Given the description of an element on the screen output the (x, y) to click on. 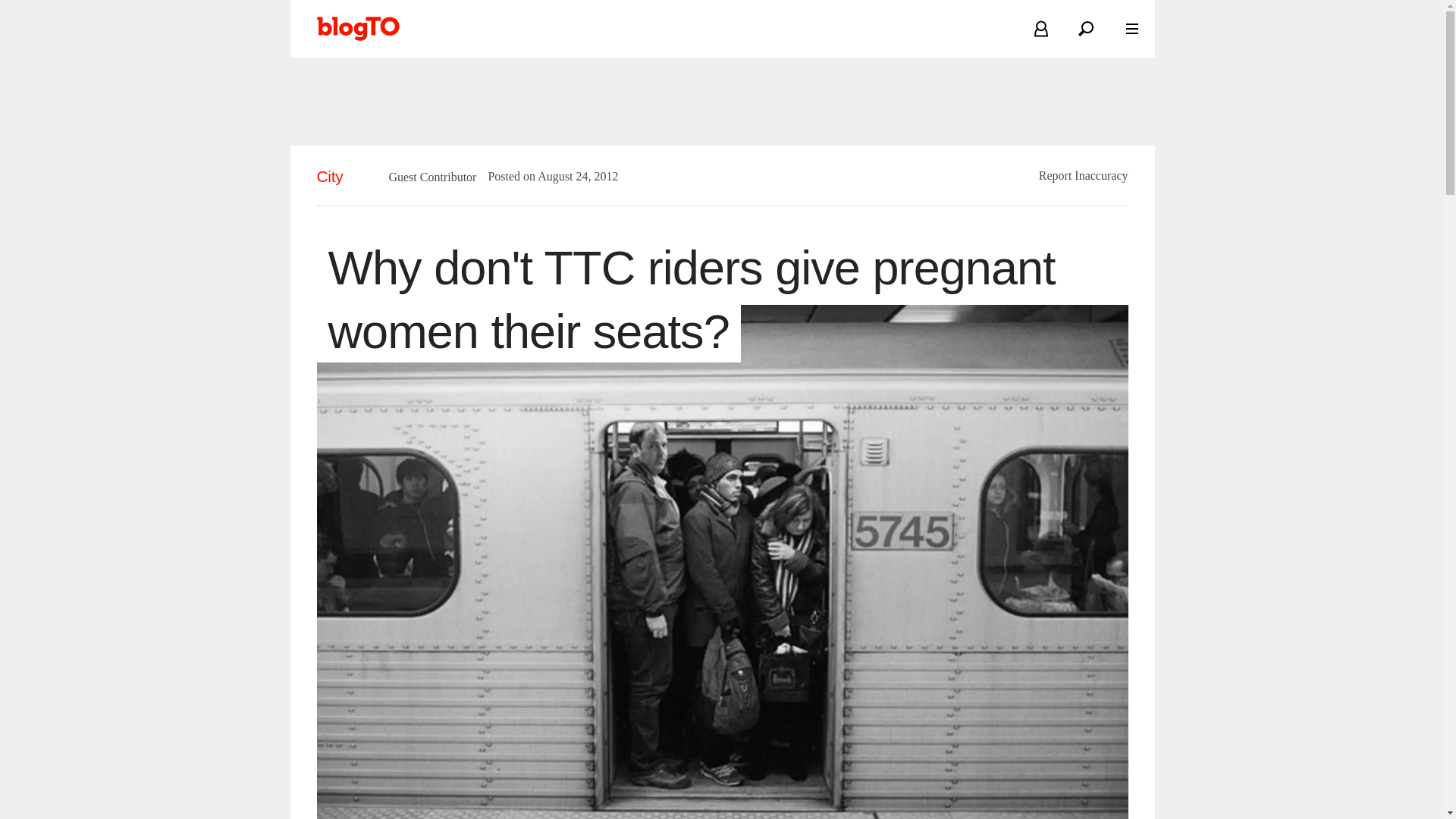
2012-08-24T08:22:00 (569, 175)
